Given the description of an element on the screen output the (x, y) to click on. 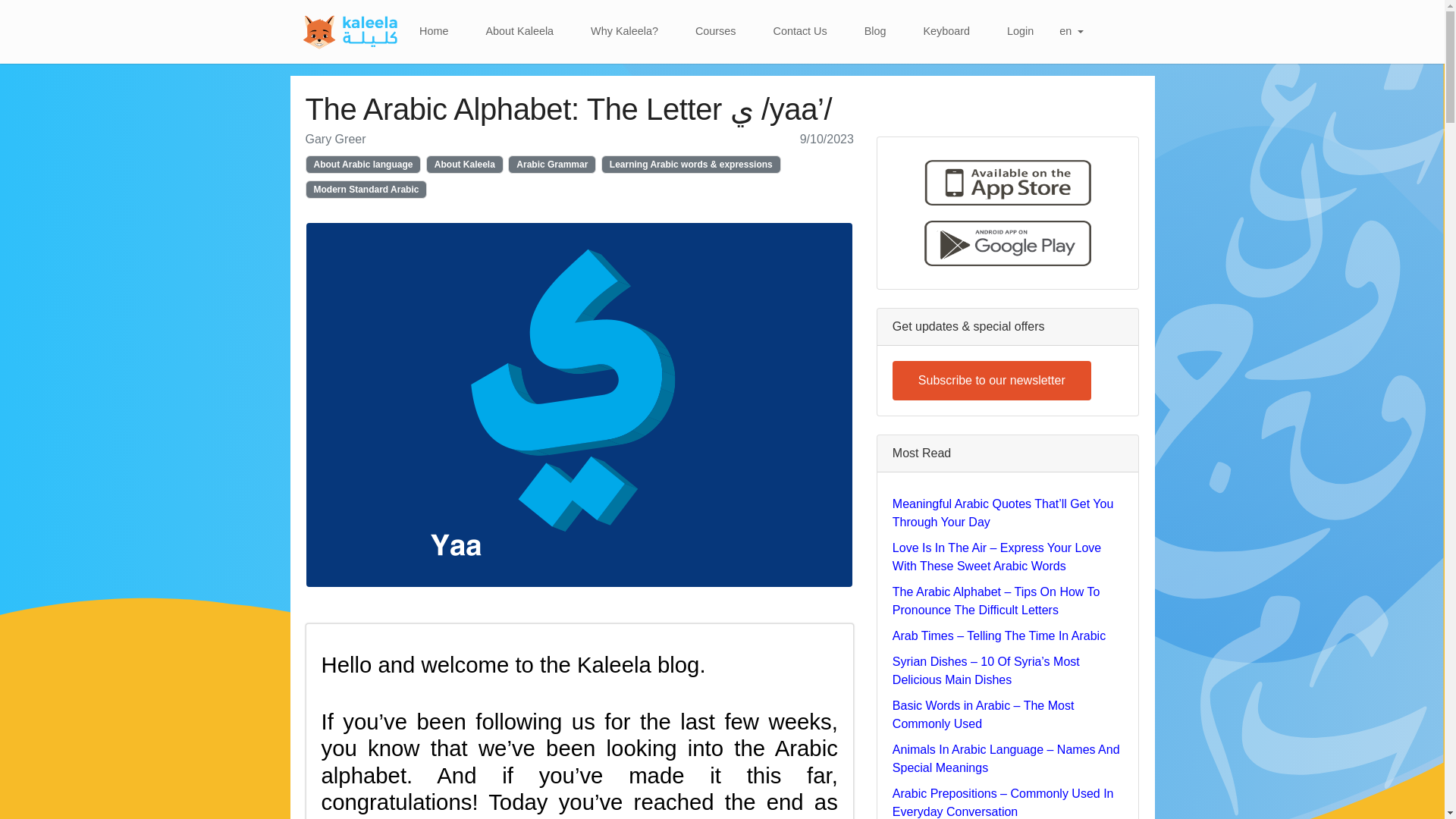
About Arabic language (362, 164)
Courses (715, 31)
Blog (874, 31)
Arabic Grammar (551, 164)
Why Kaleela? (624, 31)
Modern Standard Arabic (365, 189)
Login (1019, 31)
Contact Us (800, 31)
About Kaleela (519, 31)
Keyboard (946, 31)
Home (433, 31)
About Kaleela (464, 164)
en (1070, 31)
